Given the description of an element on the screen output the (x, y) to click on. 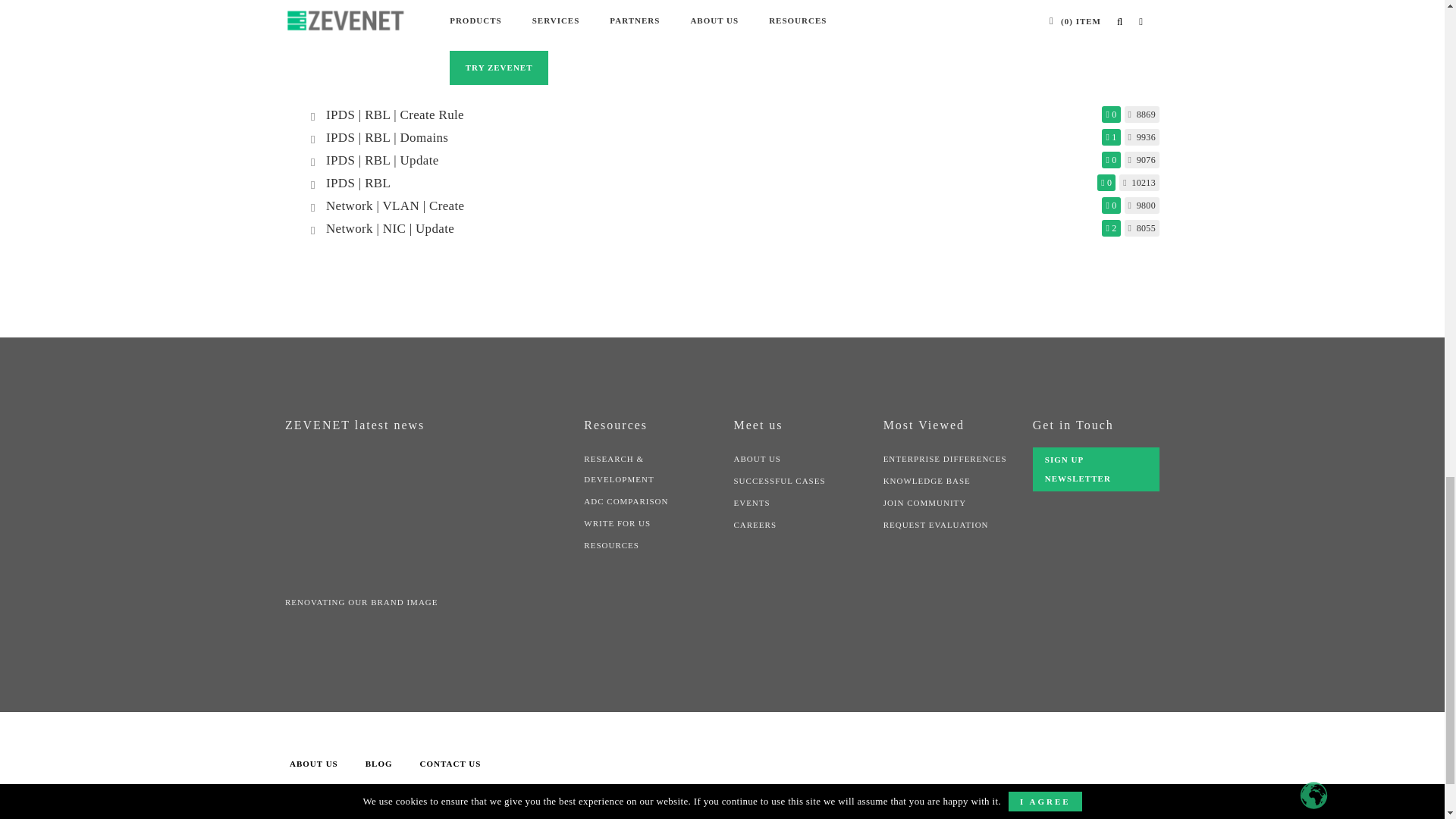
Leave us a review (1095, 570)
Follow us on Linkedin (911, 758)
Follow us on Twitter (866, 758)
Follow us on Facebook (958, 758)
Follow us on Youtube (1001, 758)
